Given the description of an element on the screen output the (x, y) to click on. 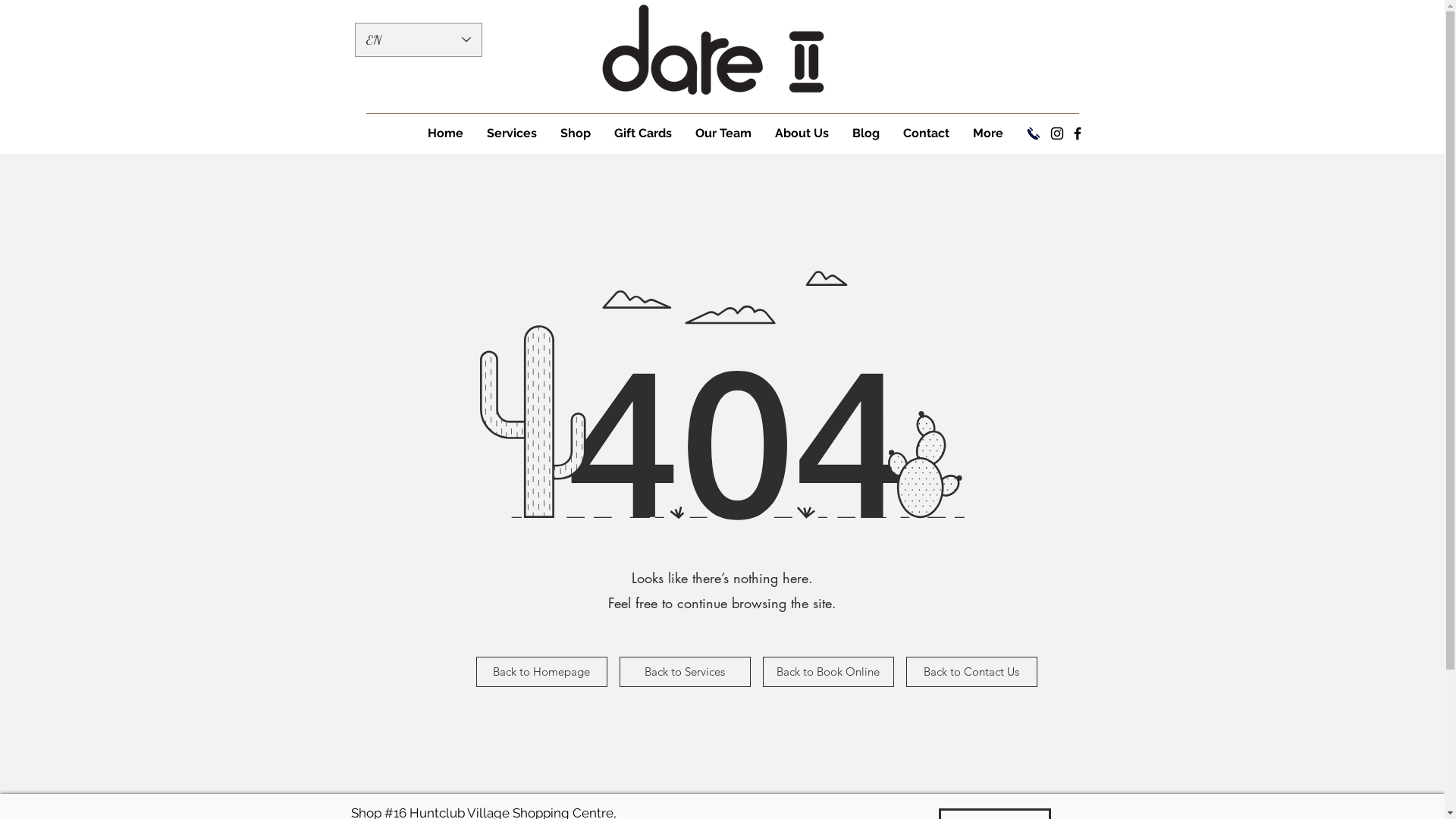
Blog Element type: text (865, 133)
Back to Book Online Element type: text (828, 671)
Home Element type: text (444, 133)
Contact Element type: text (925, 133)
Back to Contact Us Element type: text (970, 671)
About Us Element type: text (801, 133)
Gift Cards Element type: text (642, 133)
Back to Services Element type: text (683, 671)
Our Team Element type: text (722, 133)
Services Element type: text (511, 133)
Back to Homepage Element type: text (541, 671)
Shop Element type: text (574, 133)
